Given the description of an element on the screen output the (x, y) to click on. 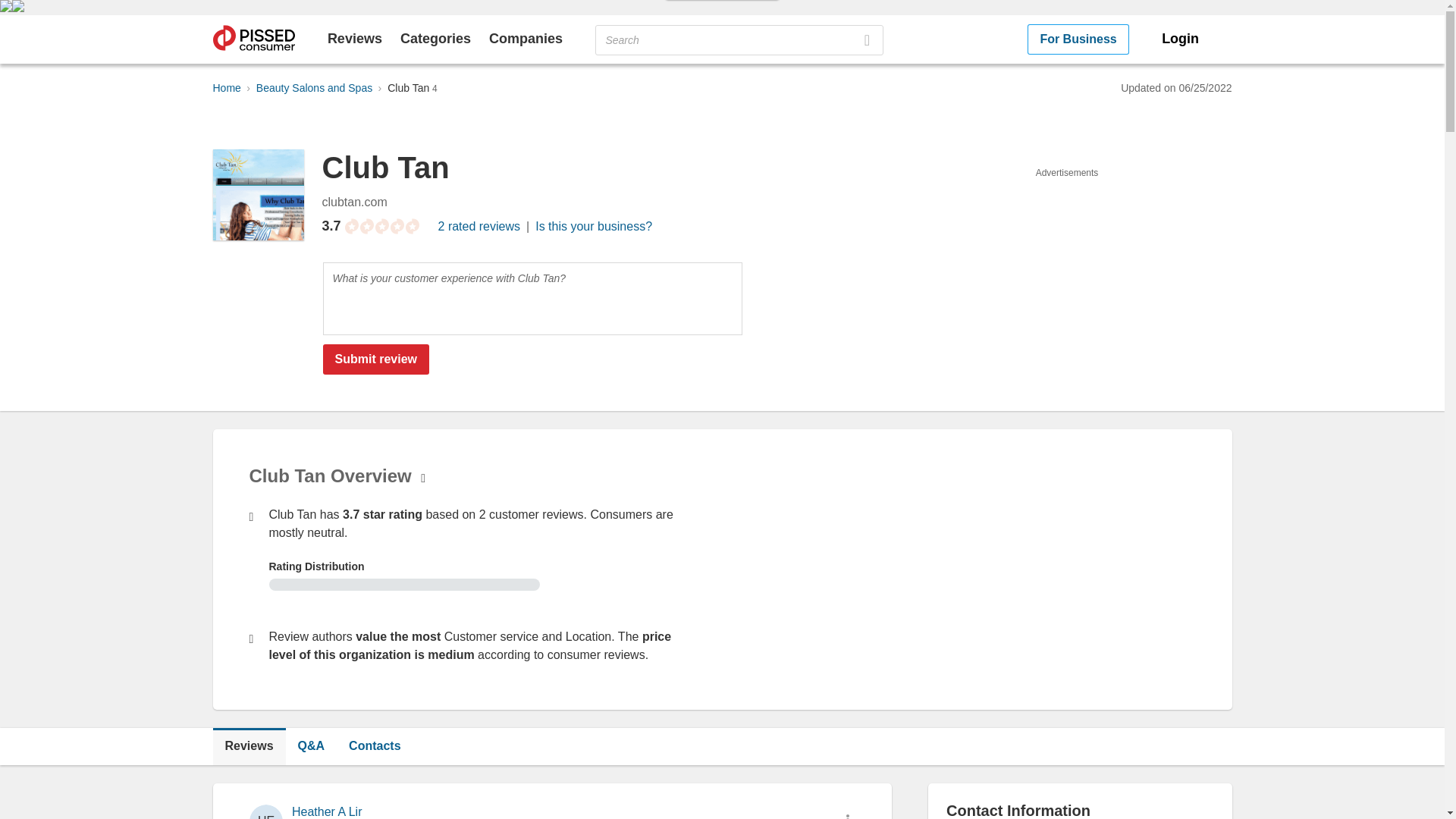
Home (226, 87)
For Business (1077, 39)
Submit review (376, 358)
Categories (435, 38)
Reviews (248, 746)
PissedConsumer (253, 39)
Reviews (354, 38)
Beauty Salons and Spas (314, 87)
Contacts (374, 746)
Heather A Lir (326, 811)
